Given the description of an element on the screen output the (x, y) to click on. 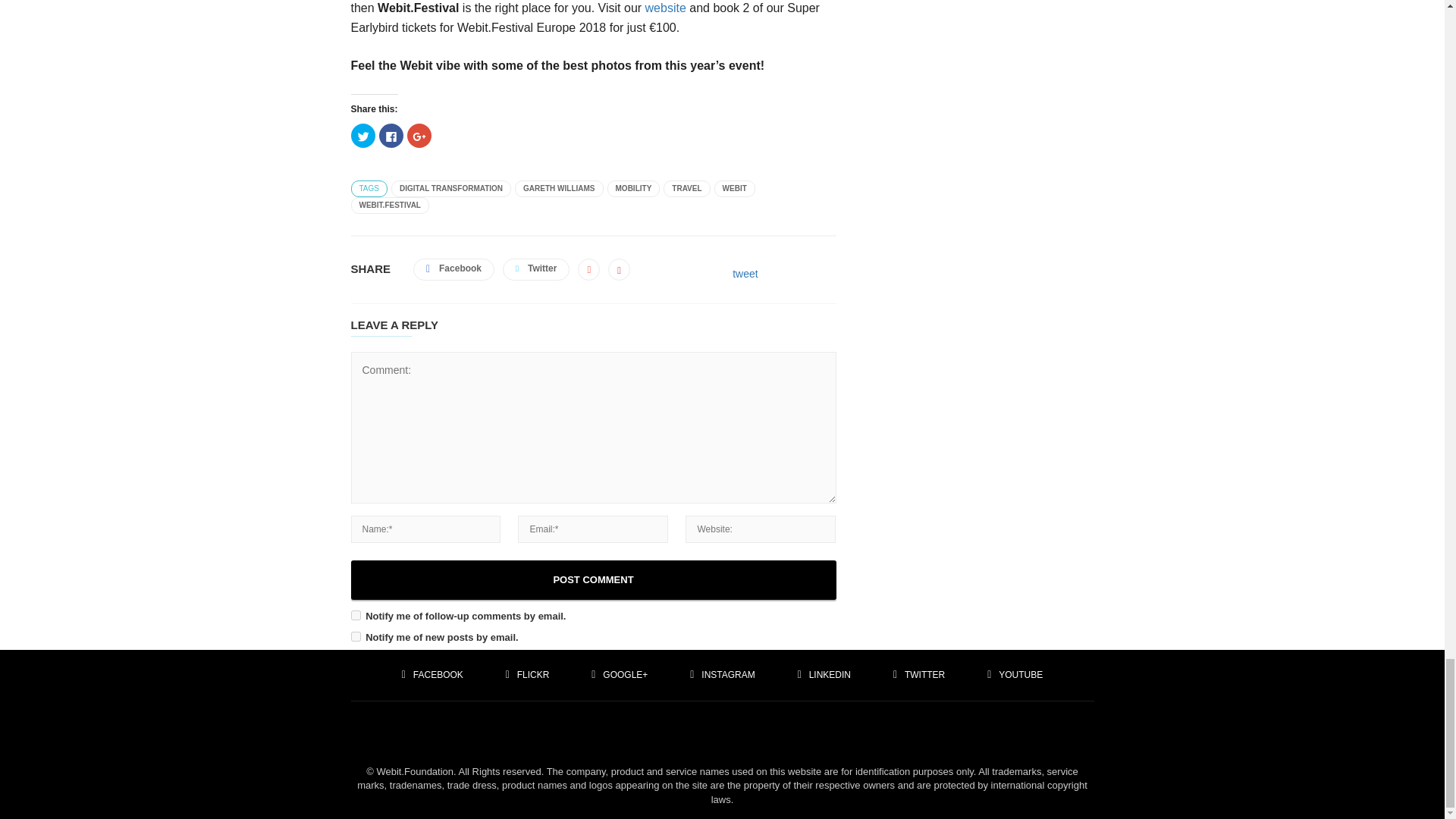
subscribe (354, 614)
subscribe (354, 636)
Post Comment (592, 579)
DIGITAL TRANSFORMATION (451, 188)
MOBILITY (634, 188)
GARETH WILLIAMS (558, 188)
website (665, 7)
